Given the description of an element on the screen output the (x, y) to click on. 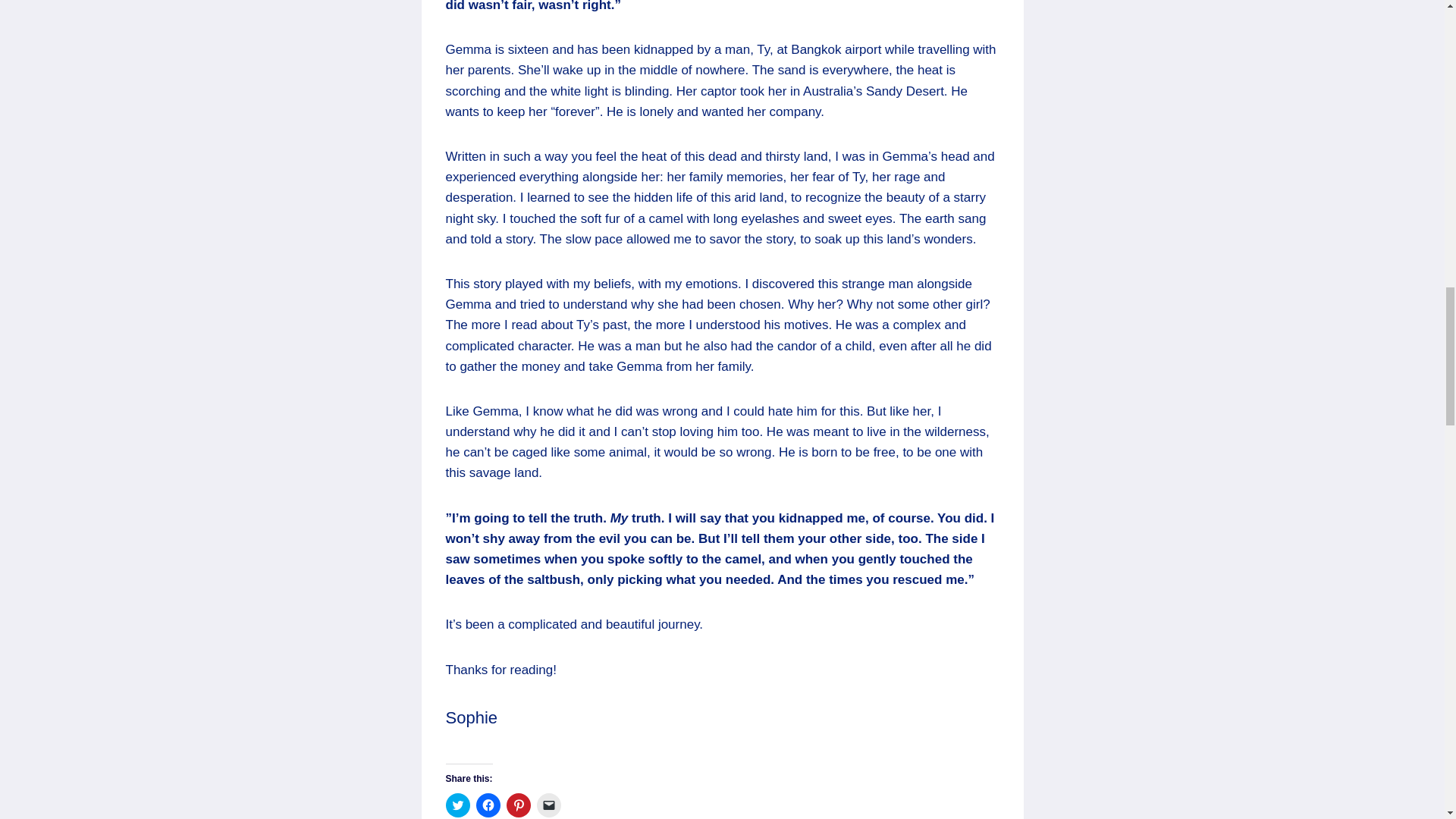
Click to share on Facebook (488, 805)
Click to share on Pinterest (518, 805)
Click to email a link to a friend (548, 805)
Click to share on Twitter (457, 805)
